Given the description of an element on the screen output the (x, y) to click on. 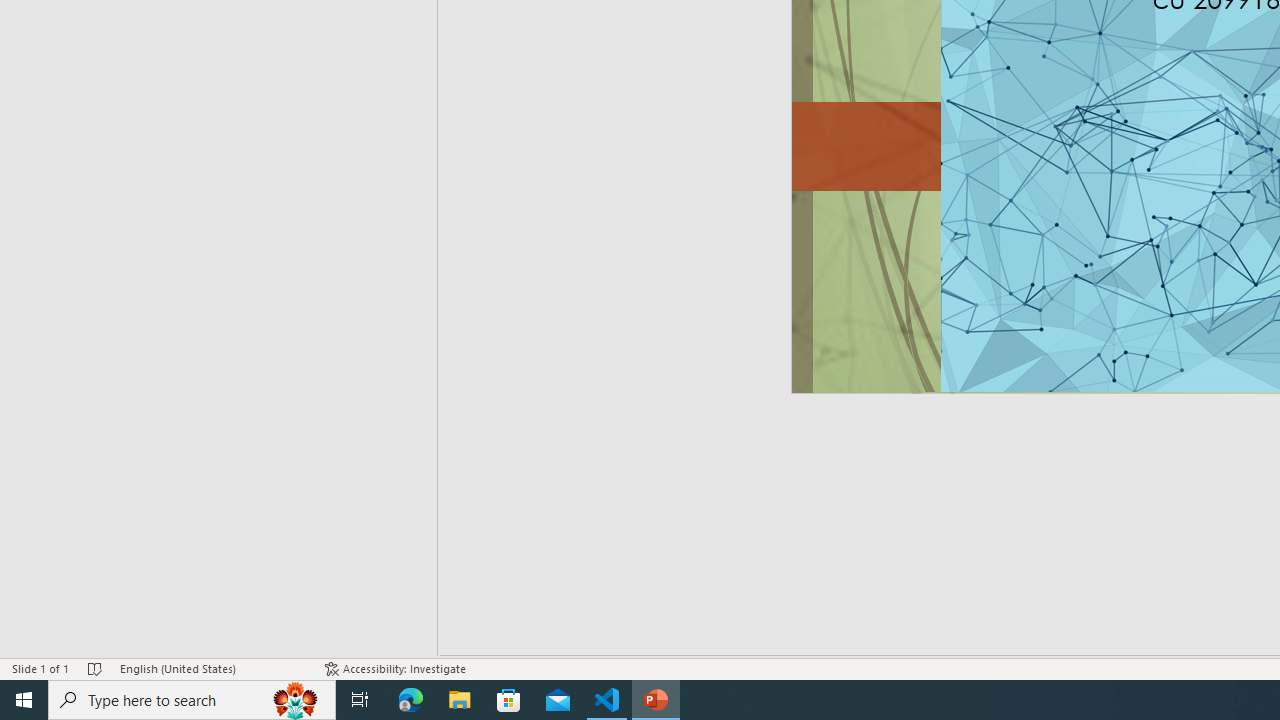
Visual Studio Code - 1 running window (607, 699)
Task View (359, 699)
Microsoft Store (509, 699)
Type here to search (191, 699)
Microsoft Edge (411, 699)
Search highlights icon opens search home window (295, 699)
Start (24, 699)
File Explorer (460, 699)
PowerPoint - 1 running window (656, 699)
